Given the description of an element on the screen output the (x, y) to click on. 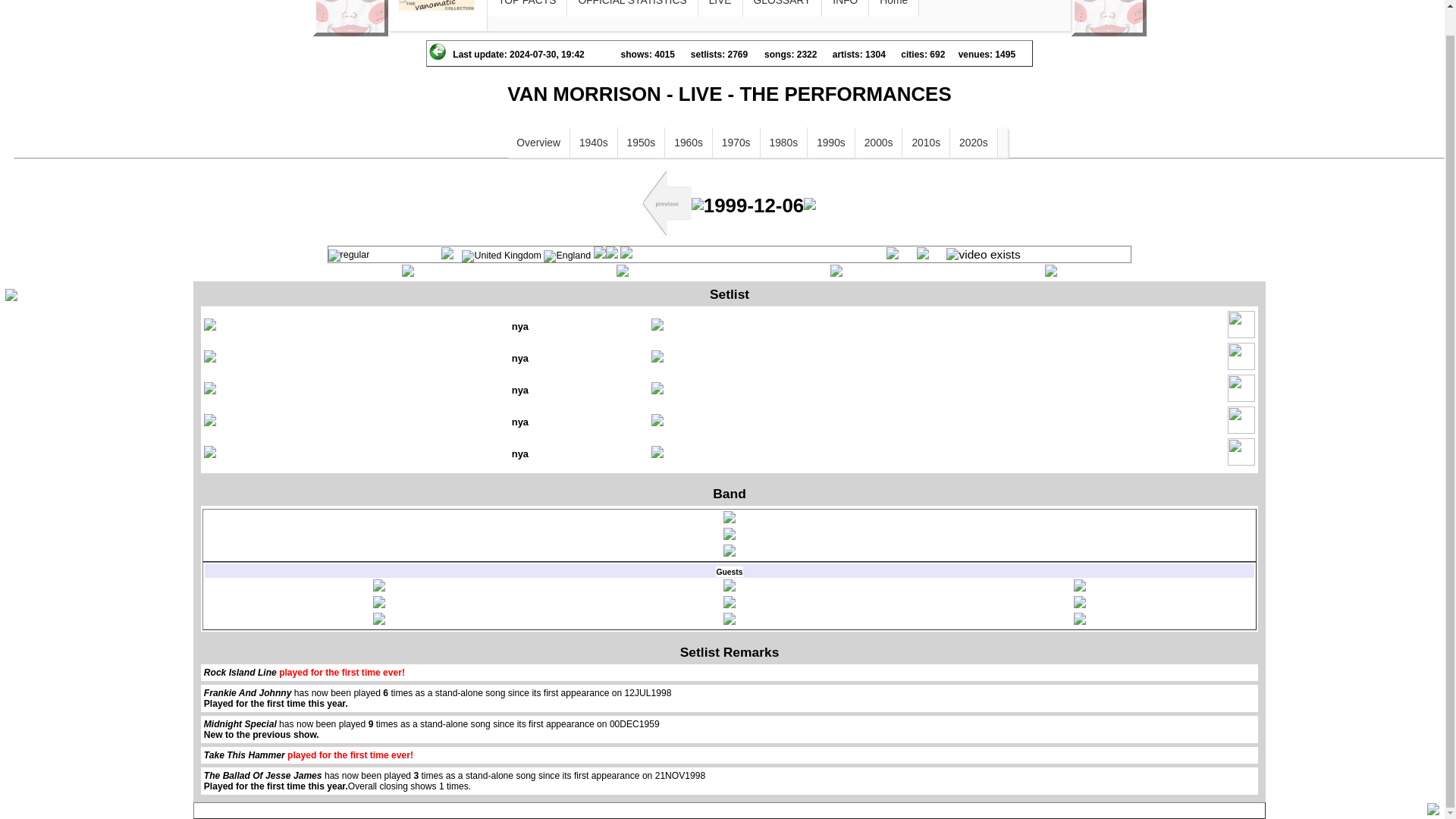
United Kingdom (501, 256)
Overview (537, 142)
England (567, 256)
video exists (983, 254)
1950s (641, 142)
TOP FACTS (526, 8)
INFO (844, 8)
GLOSSARY (782, 8)
Home (893, 8)
1940s (593, 142)
OFFICIAL STATISTICS (632, 8)
LIVE (720, 8)
take me back from where I came from (437, 51)
regular (349, 255)
